Given the description of an element on the screen output the (x, y) to click on. 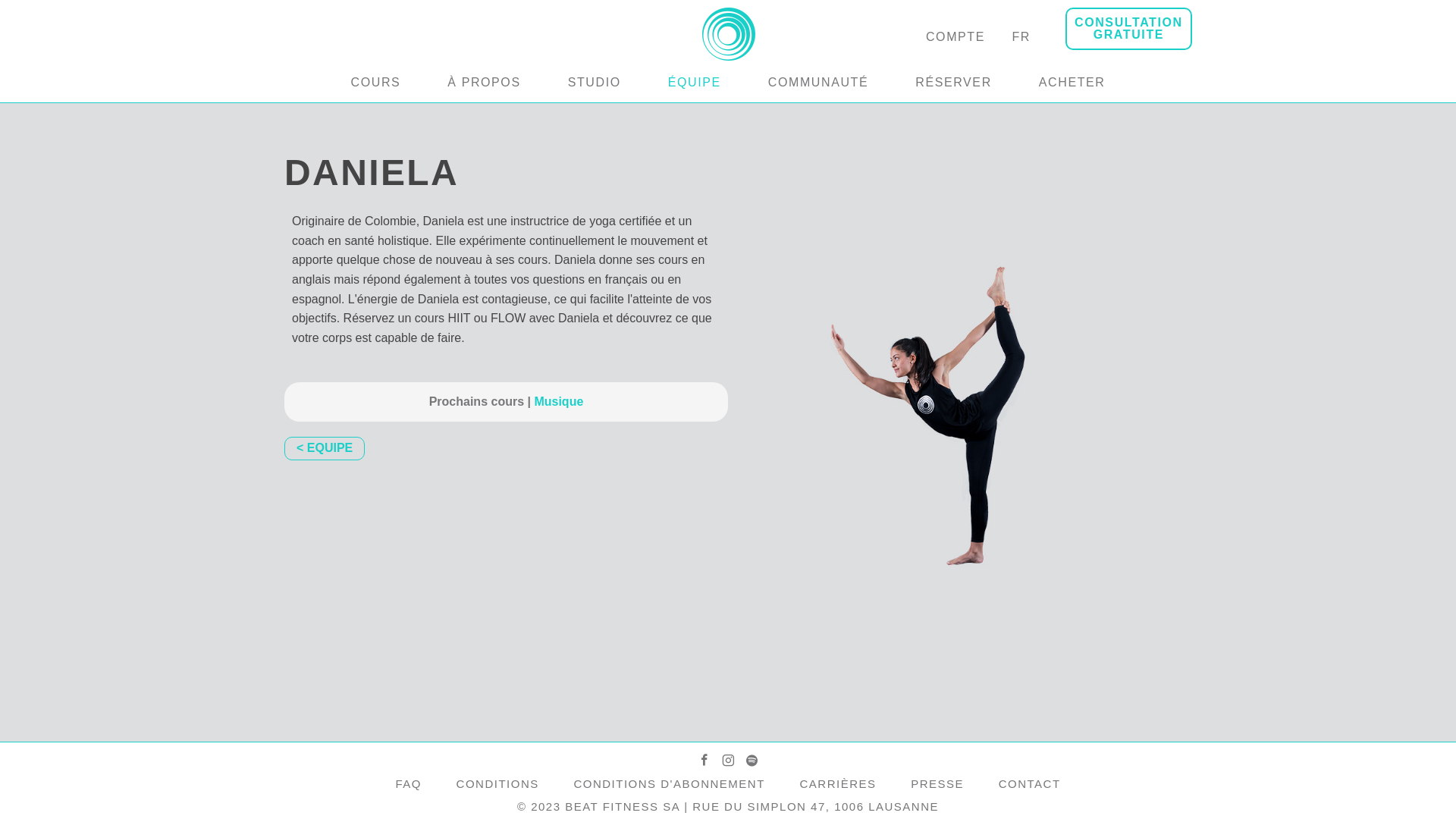
Musique Element type: text (555, 401)
BEATFitness Element type: text (727, 53)
FR Element type: text (1020, 36)
RUE DU SIMPLON 47, 1006 LAUSANNE Element type: text (815, 806)
facebook Element type: text (703, 760)
CONDITIONS D'ABONNEMENT Element type: text (668, 783)
FAQ Element type: text (408, 783)
CONSULTATION GRATUITE Element type: text (1128, 28)
Prochains cours Element type: text (476, 401)
PRESSE Element type: text (936, 783)
COURS Element type: text (375, 82)
spotify Element type: text (751, 760)
instagram Element type: text (727, 760)
CONDITIONS Element type: text (497, 783)
< EQUIPE Element type: text (324, 447)
CONTACT Element type: text (1029, 783)
COMPTE Element type: text (955, 36)
STUDIO Element type: text (594, 82)
ACHETER Element type: text (1071, 82)
